Given the description of an element on the screen output the (x, y) to click on. 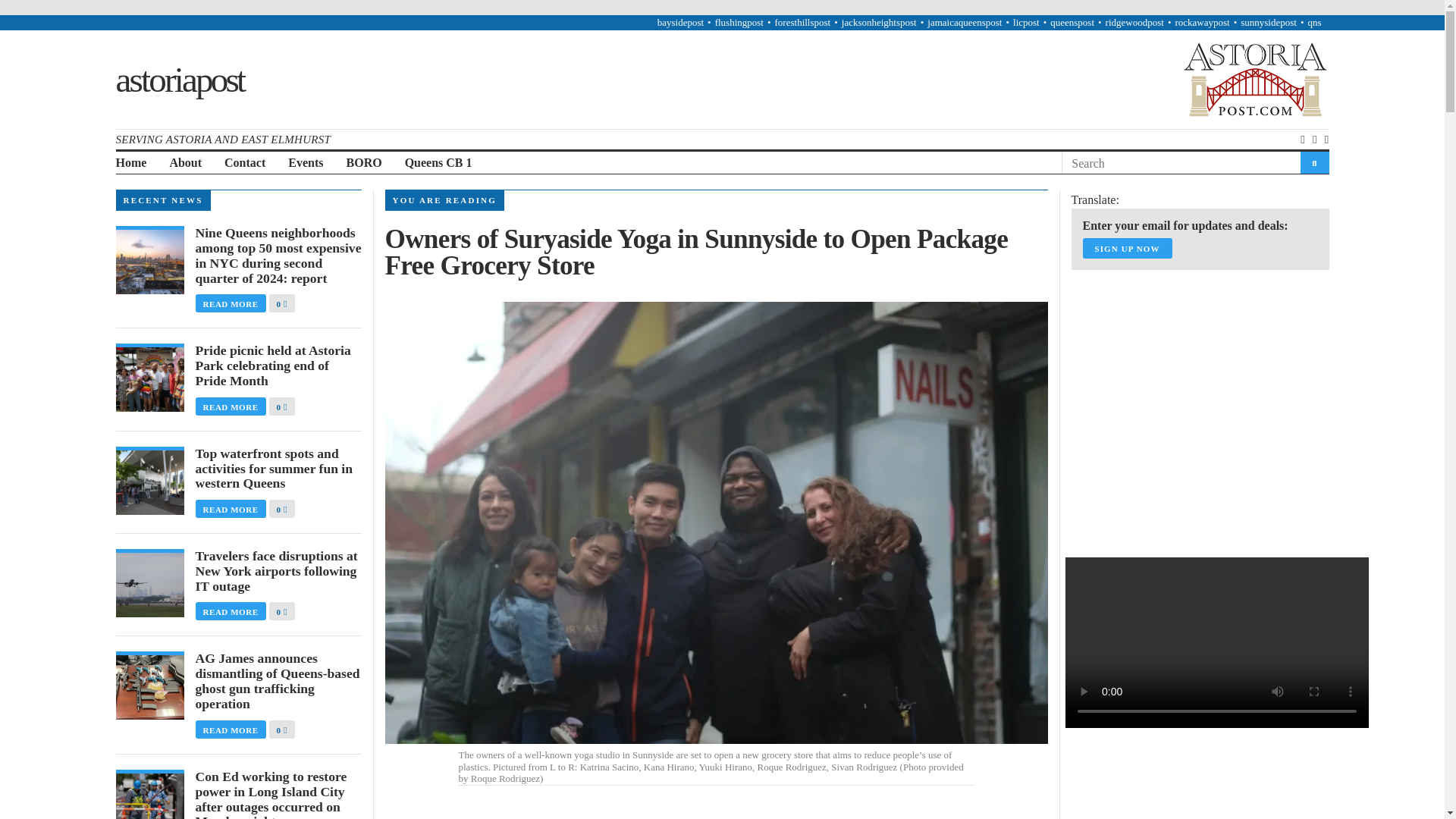
queenspost (1071, 21)
licpost (1026, 21)
jacksonheightspost (879, 21)
About (185, 163)
BORO (363, 163)
Contact (244, 163)
Events (305, 163)
jamaicaqueenspost (964, 21)
Queens CB 1 (437, 163)
foresthillspost (802, 21)
baysidepost (680, 21)
3rd party ad content (1184, 376)
sunnysidepost (1268, 21)
astoriapost (179, 78)
Home (131, 163)
